Given the description of an element on the screen output the (x, y) to click on. 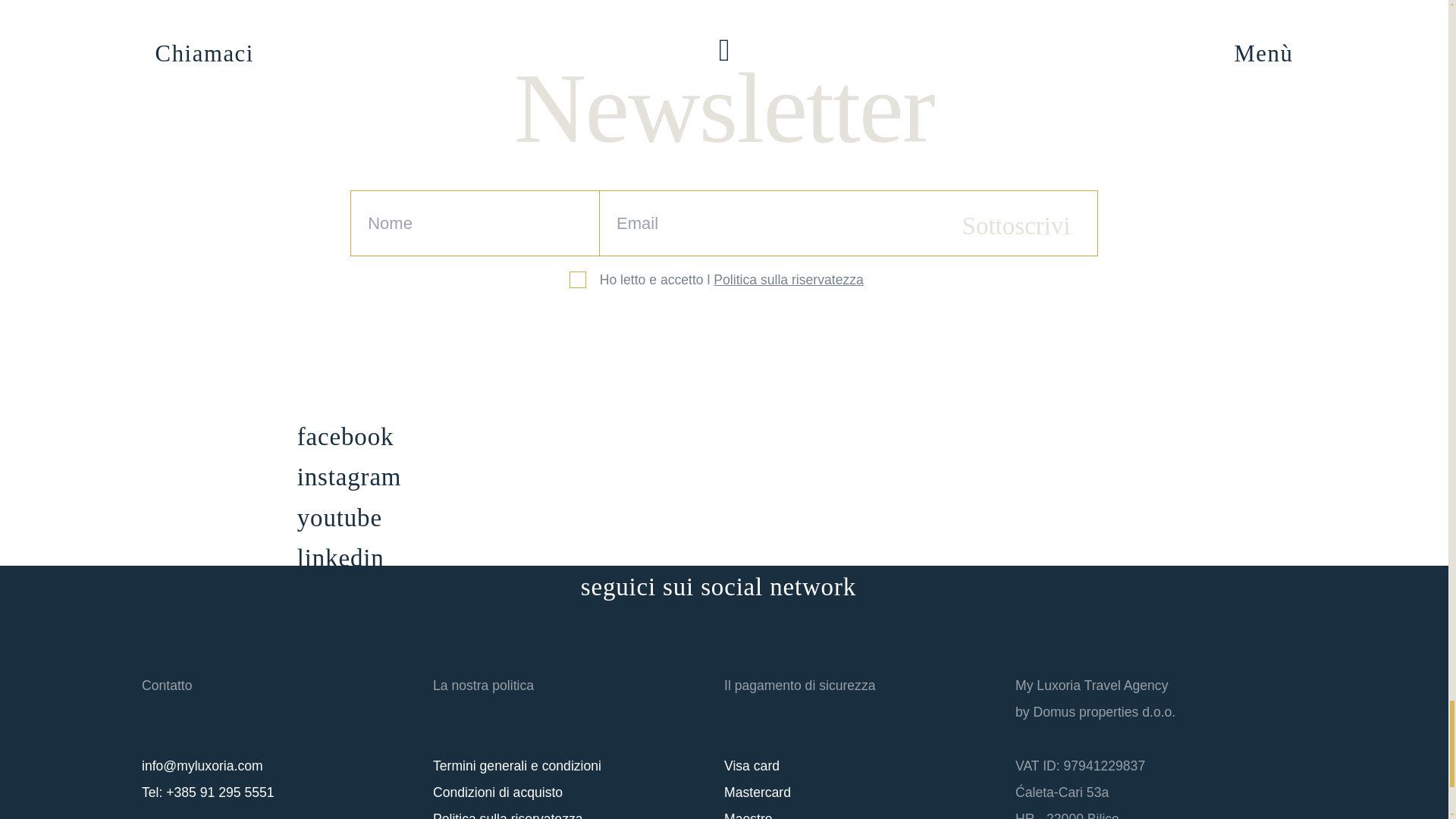
Condizioni di acquisto (497, 792)
Politica sulla riservatezza (507, 815)
Termini generali e condizioni (516, 765)
